Given the description of an element on the screen output the (x, y) to click on. 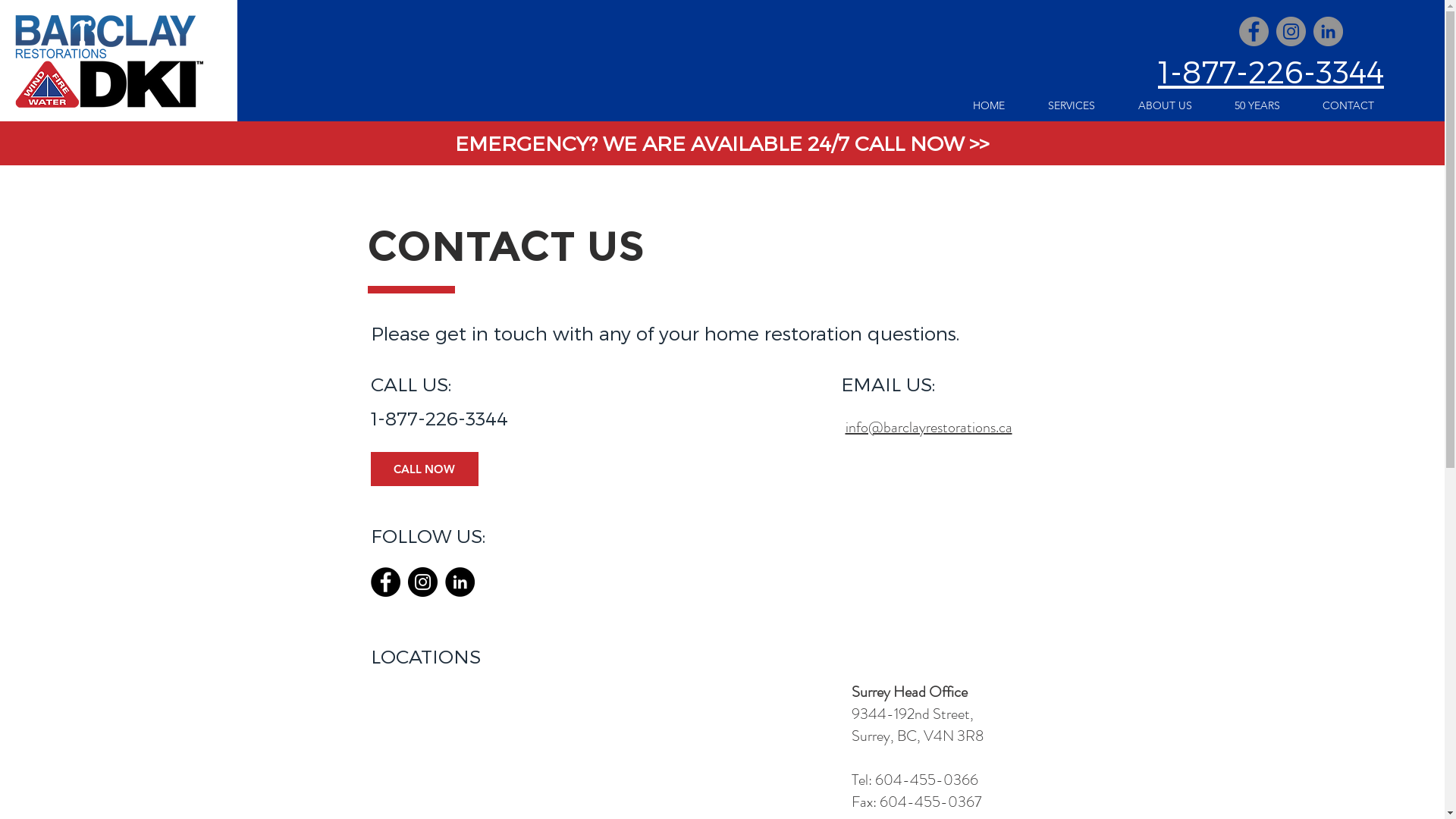
info@barclayrestorations.ca Element type: text (927, 426)
1-877-226-3344 Element type: text (1270, 70)
50 YEARS Element type: text (1257, 105)
EMERGENCY? WE ARE AVAILABLE 24/7 CALL NOW >> Element type: text (721, 142)
ABOUT US Element type: text (1164, 105)
CONTACT Element type: text (1348, 105)
SERVICES Element type: text (1071, 105)
HOME Element type: text (988, 105)
